Given the description of an element on the screen output the (x, y) to click on. 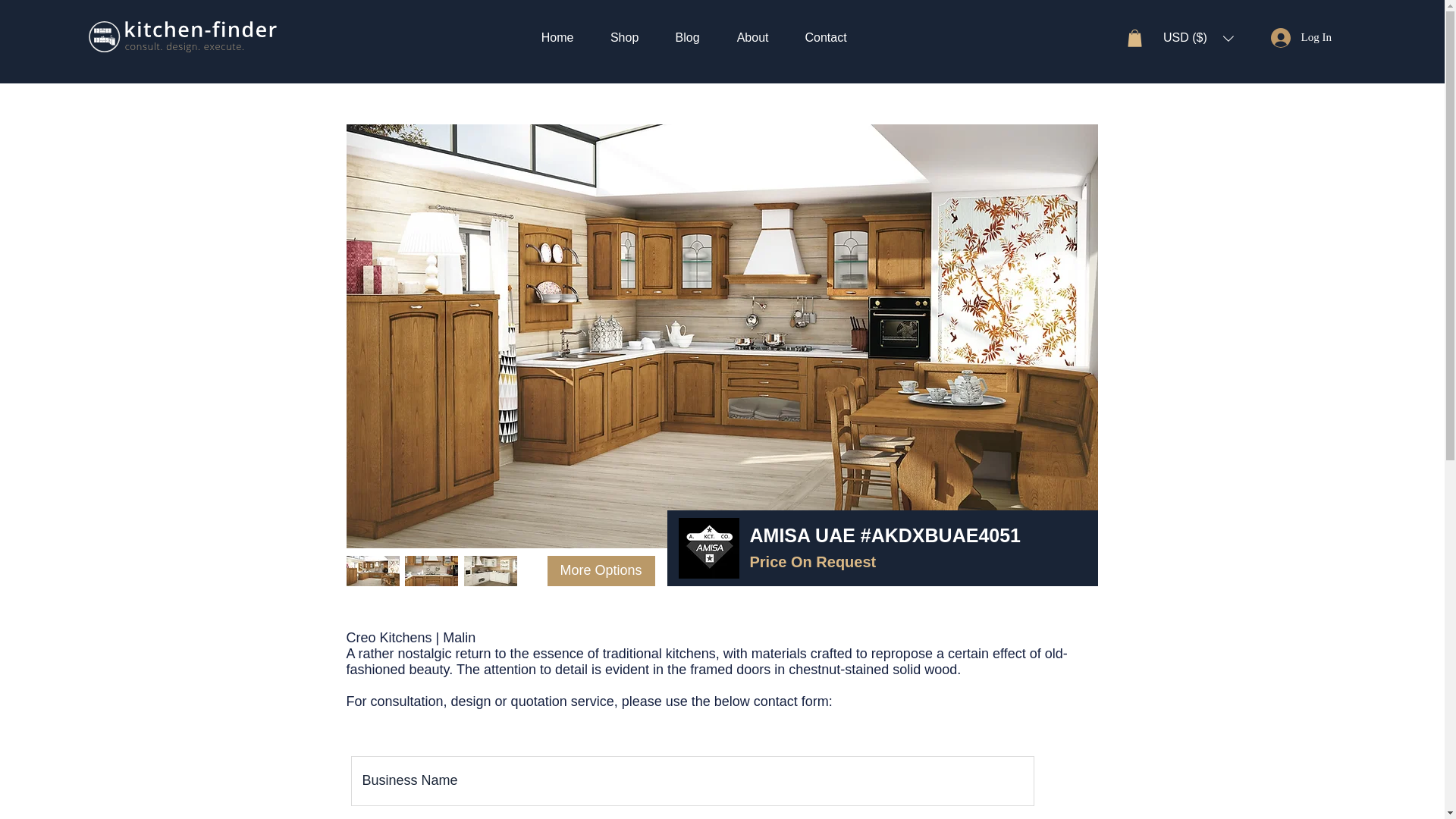
Log In (1301, 36)
About (752, 37)
Home (557, 37)
Shop (624, 37)
Contact (825, 37)
Blog (686, 37)
